Given the description of an element on the screen output the (x, y) to click on. 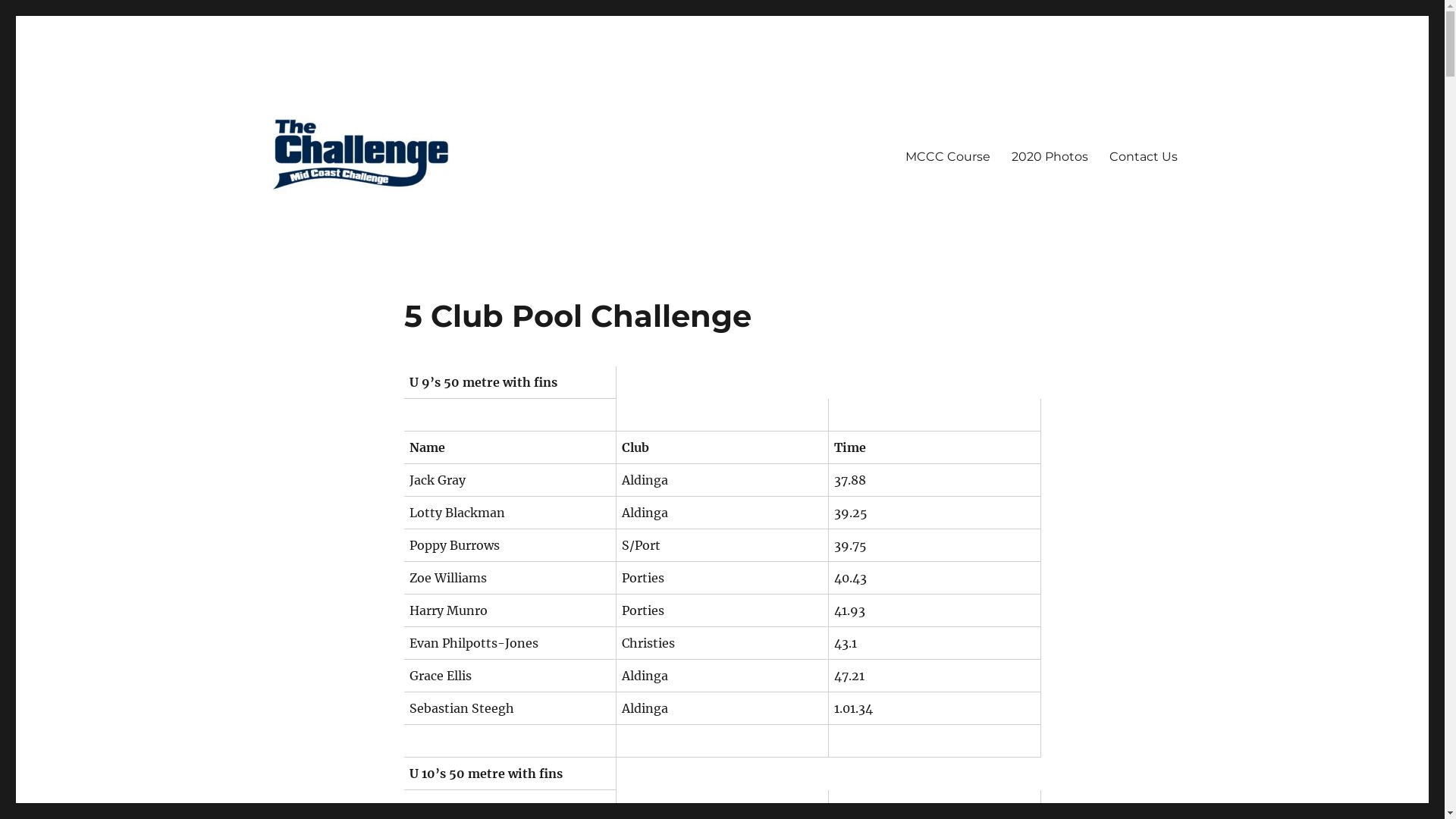
2020 Photos Element type: text (1049, 156)
MCCC Course Element type: text (947, 156)
Contact Us Element type: text (1142, 156)
